Given the description of an element on the screen output the (x, y) to click on. 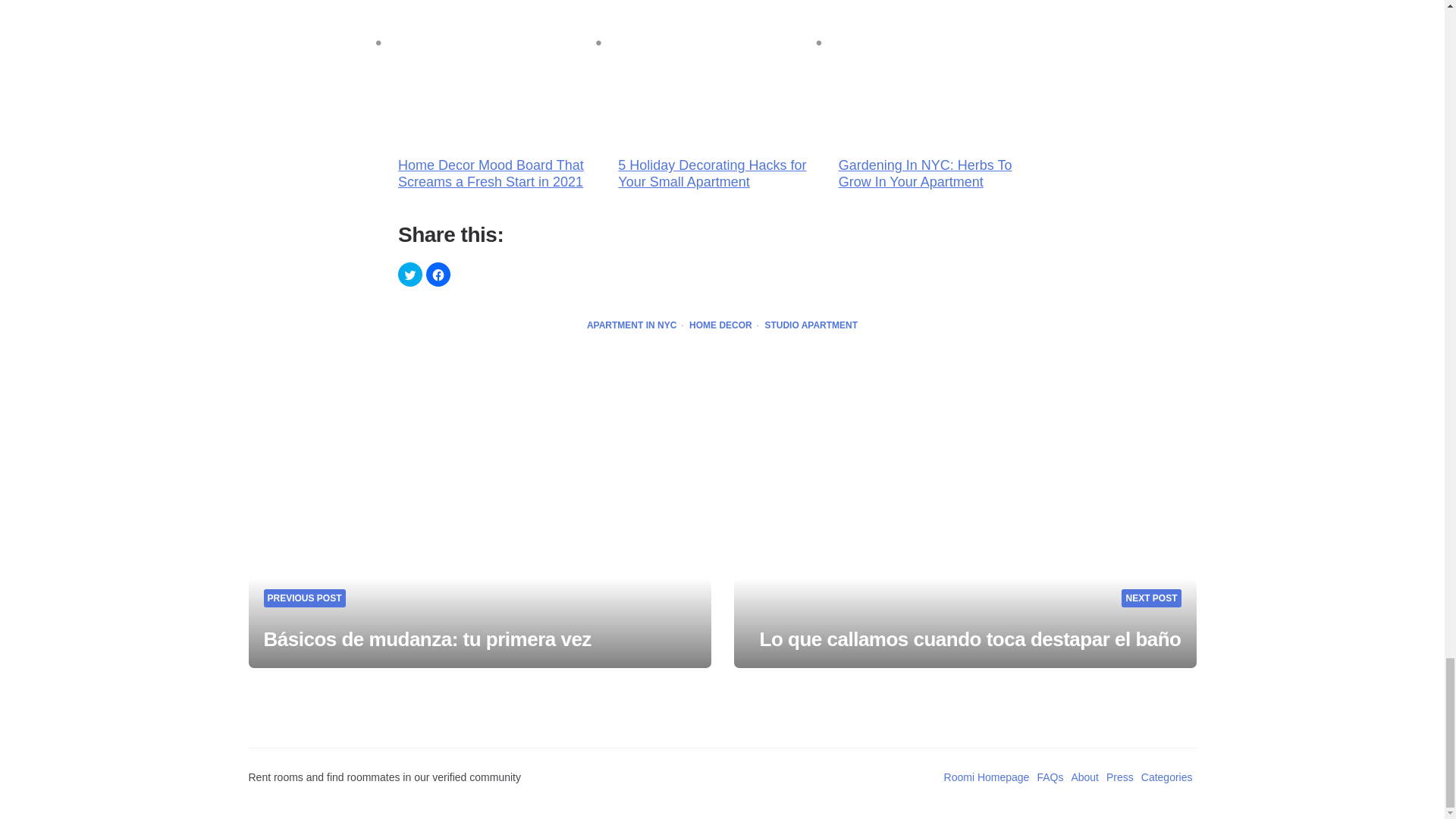
HOME DECOR (720, 326)
Home Decor Mood Board That Screams a Fresh Start in 2021 (501, 111)
5 Holiday Decorating Hacks for Your Small Apartment (721, 111)
STUDIO APARTMENT (810, 326)
APARTMENT IN NYC (631, 326)
Click to share on Twitter (409, 274)
Click to share on Facebook (437, 274)
Gardening In NYC: Herbs To Grow In Your Apartment (942, 111)
